Given the description of an element on the screen output the (x, y) to click on. 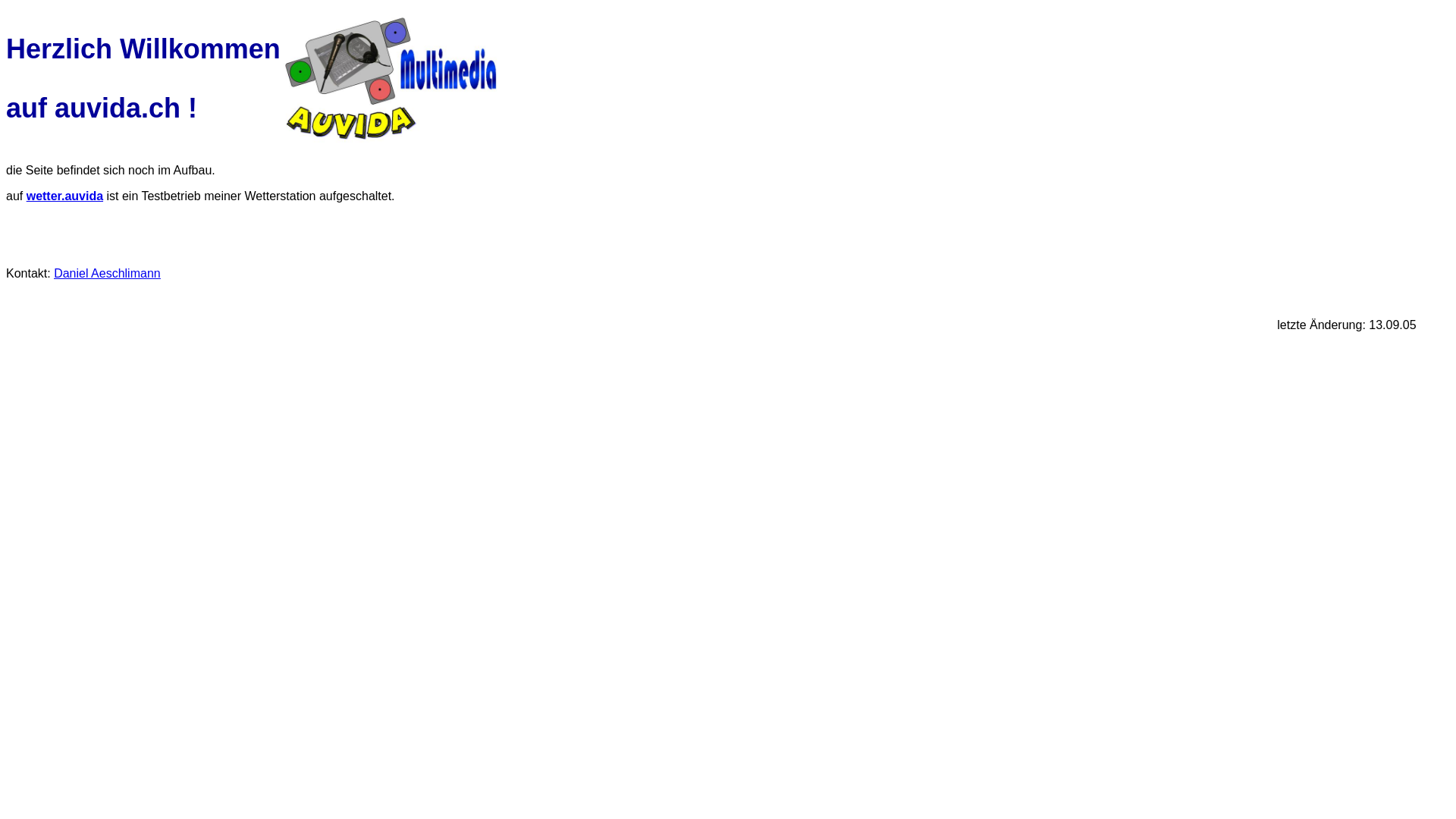
Daniel Aeschlimann Element type: text (106, 272)
wetter.auvida Element type: text (64, 195)
